Given the description of an element on the screen output the (x, y) to click on. 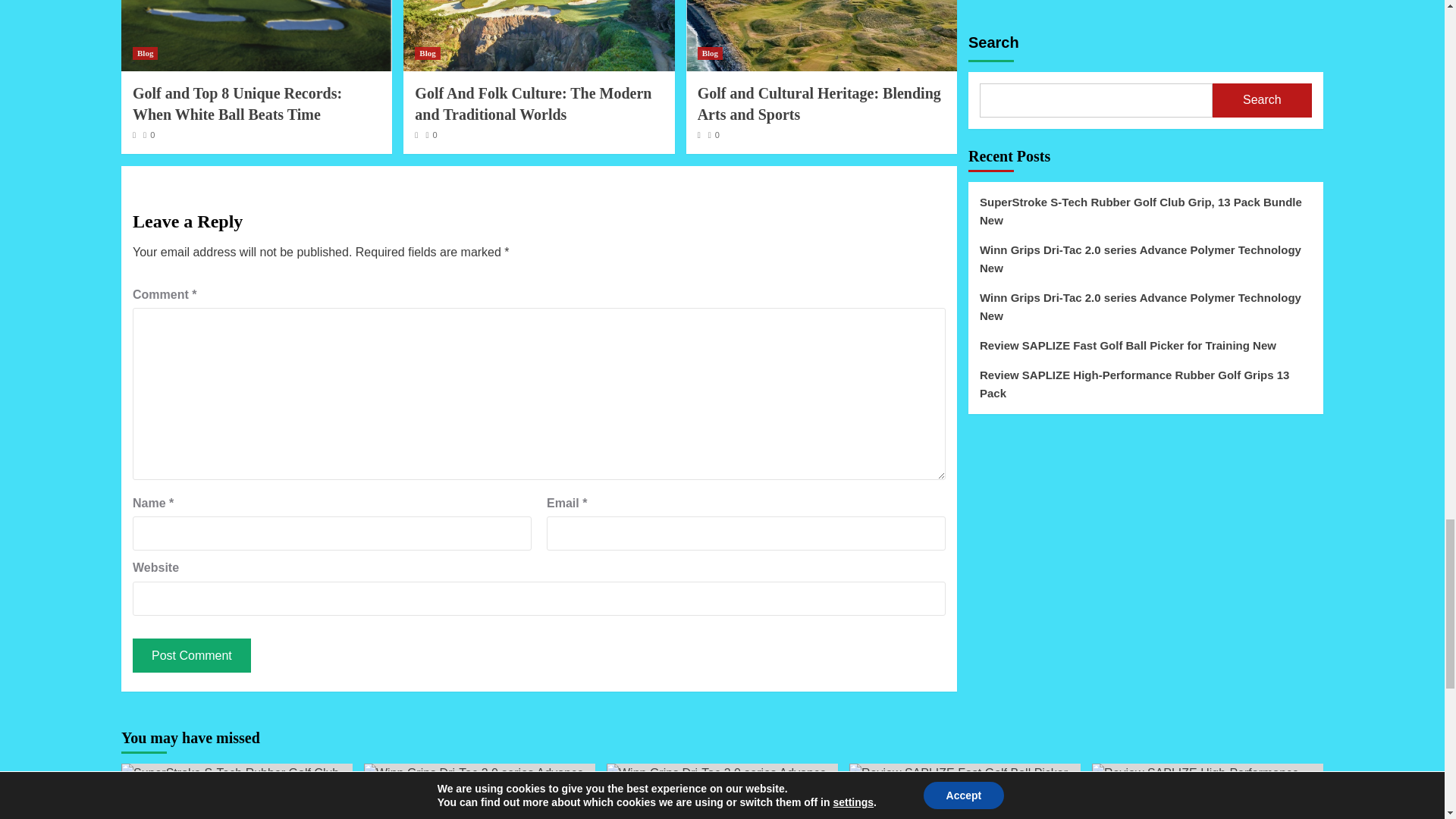
Golf And Folk Culture: The Modern and Traditional Worlds (532, 103)
Golf and Cultural Heritage: Blending Arts and Sports (818, 103)
Blog (426, 52)
Golf and Top 8 Unique Records: When White Ball Beats Time (237, 103)
Blog (144, 52)
Blog (709, 52)
0 (430, 134)
0 (148, 134)
Post Comment (191, 655)
